Given the description of an element on the screen output the (x, y) to click on. 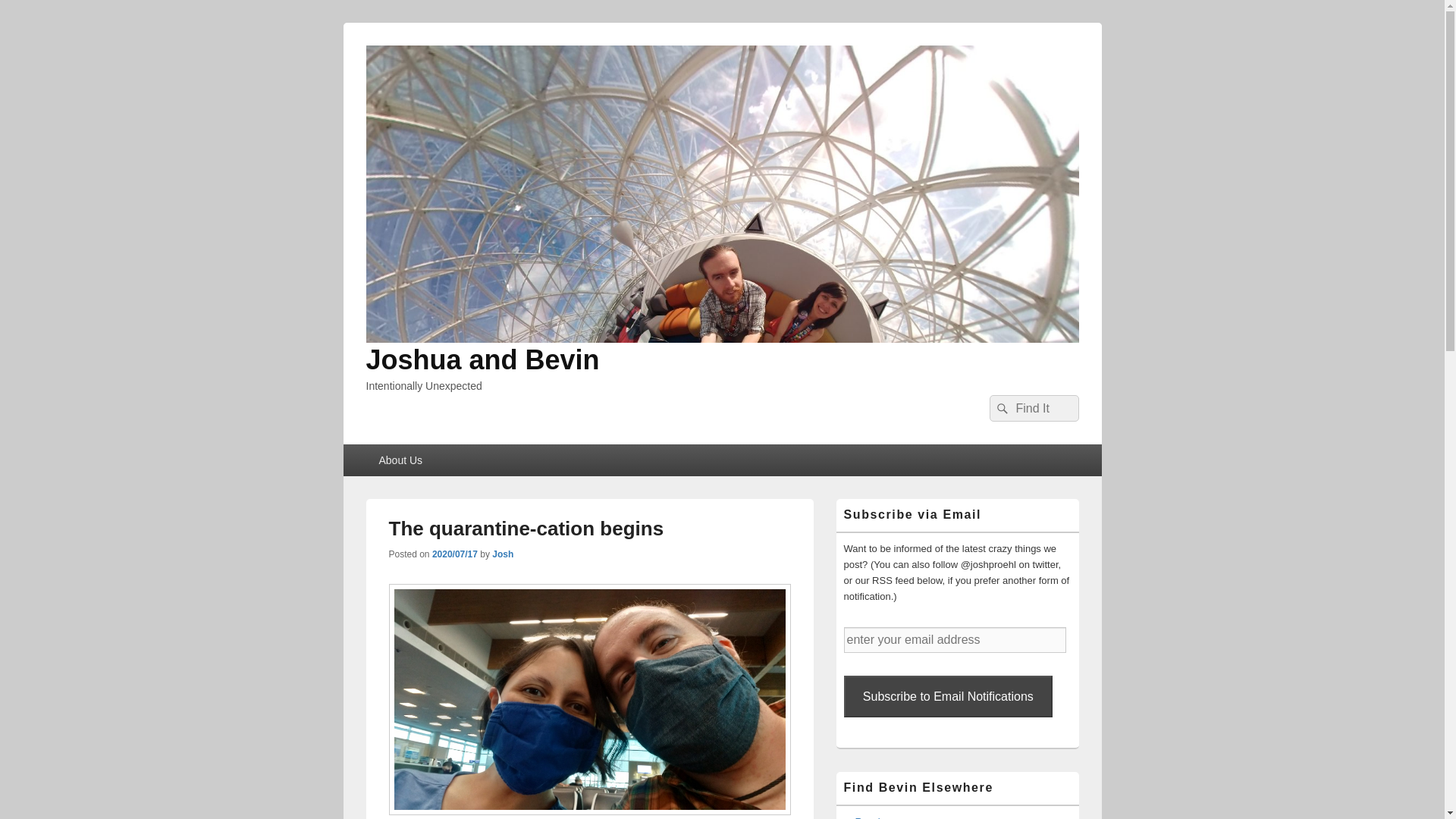
Subscribe to Email Notifications (947, 696)
Ravelry (872, 817)
07:04 (454, 553)
Josh (502, 553)
Making things with sticks and fiber. (872, 817)
About Us (400, 459)
Joshua and Bevin (481, 359)
View all posts by Josh (502, 553)
Search for: (1033, 408)
